Given the description of an element on the screen output the (x, y) to click on. 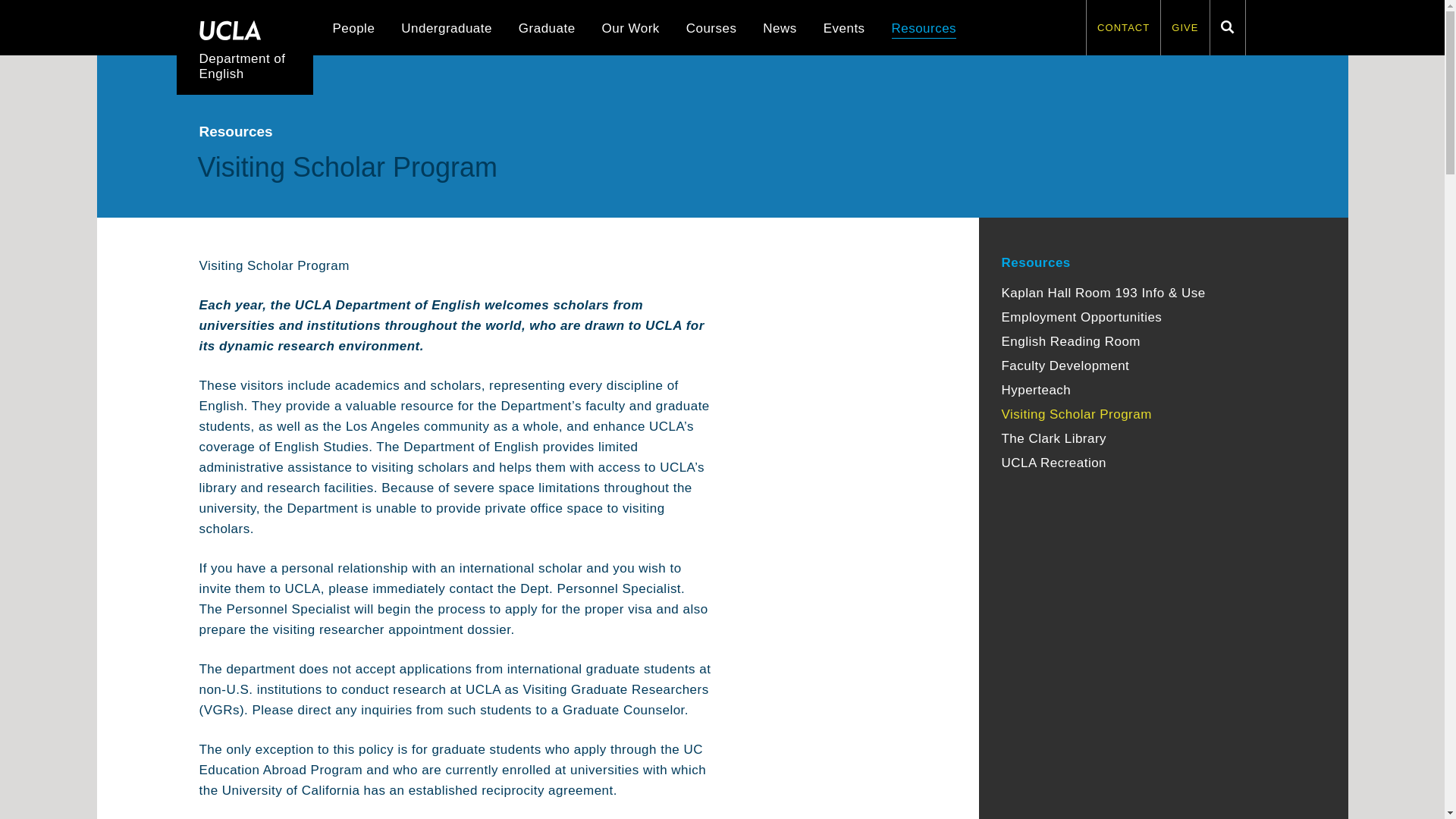
Undergraduate (446, 29)
Visiting Scholar Program (1076, 414)
Graduate (546, 29)
English Reading Room (1070, 341)
People (352, 29)
Hyperteach (1035, 390)
Employment Opportunities (1081, 317)
News (779, 29)
Resources (923, 29)
Events (844, 29)
